Given the description of an element on the screen output the (x, y) to click on. 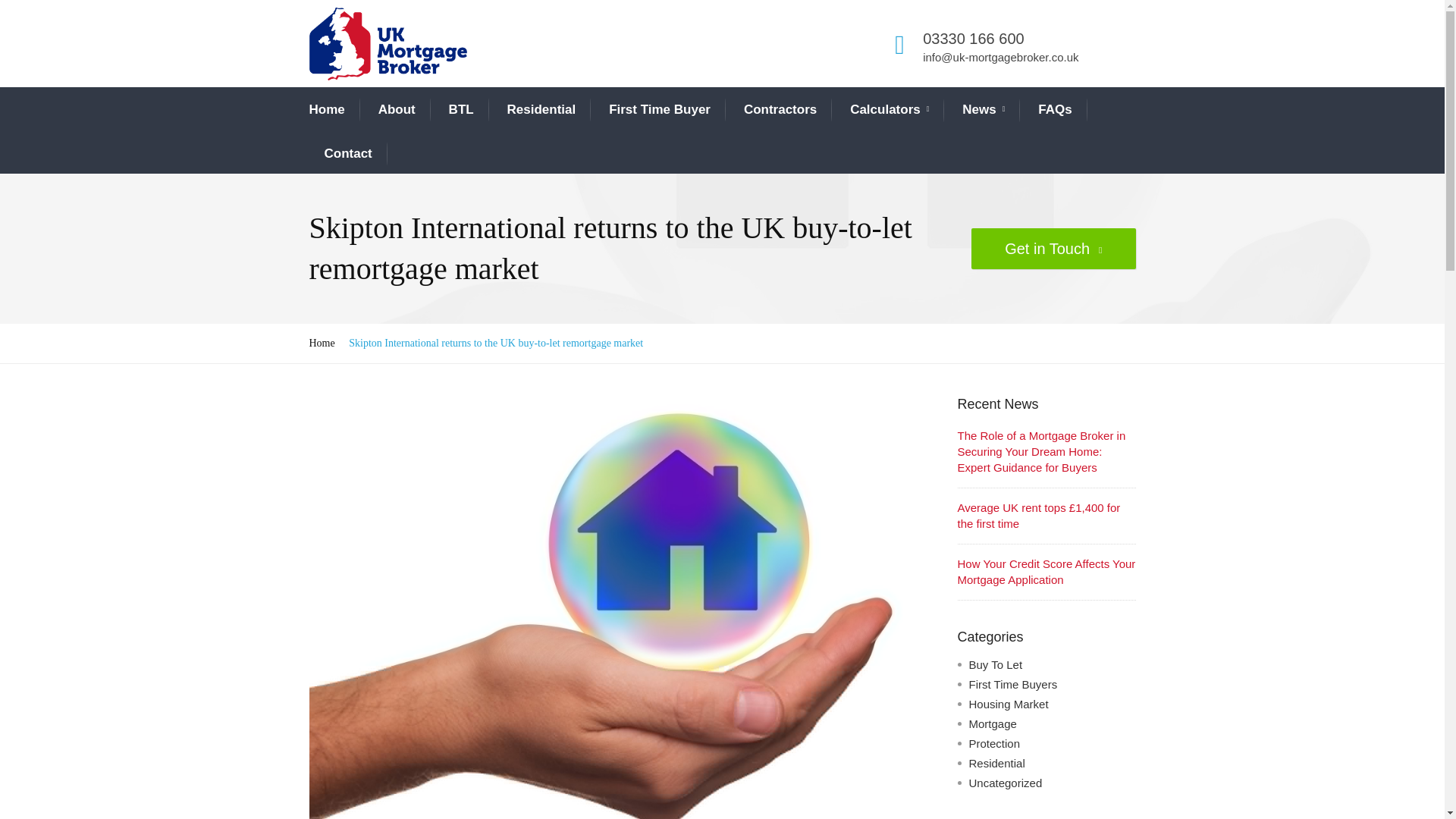
Home (326, 109)
BTL (461, 109)
About (396, 109)
First Time Buyer (659, 109)
FAQs (1054, 109)
Contractors (780, 109)
News (983, 109)
Contact (348, 153)
Residential (541, 109)
03330 166 600 (973, 38)
